Given the description of an element on the screen output the (x, y) to click on. 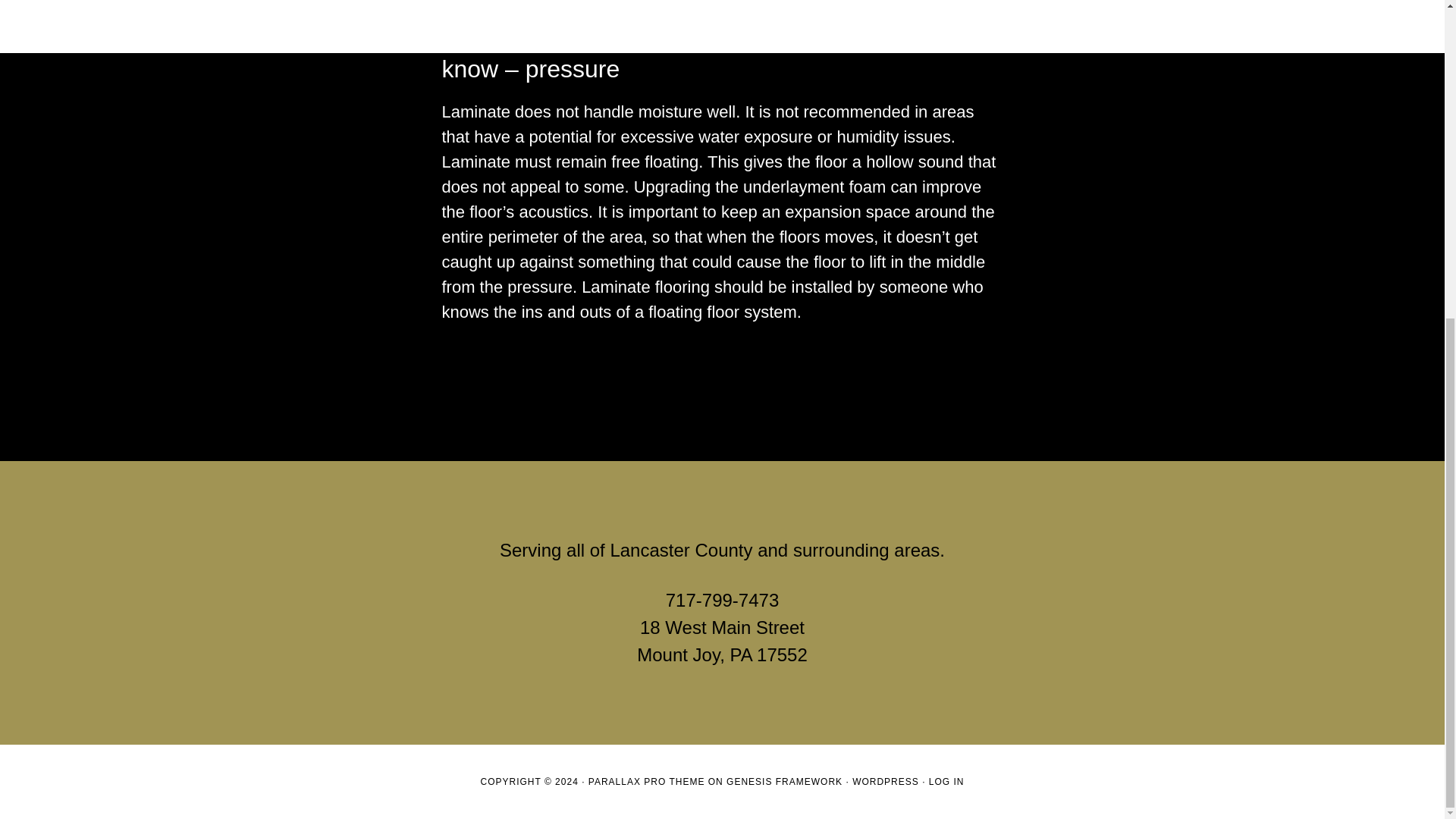
PARALLAX PRO THEME (646, 781)
GENESIS FRAMEWORK (784, 781)
WORDPRESS (884, 781)
LOG IN (945, 781)
